Given the description of an element on the screen output the (x, y) to click on. 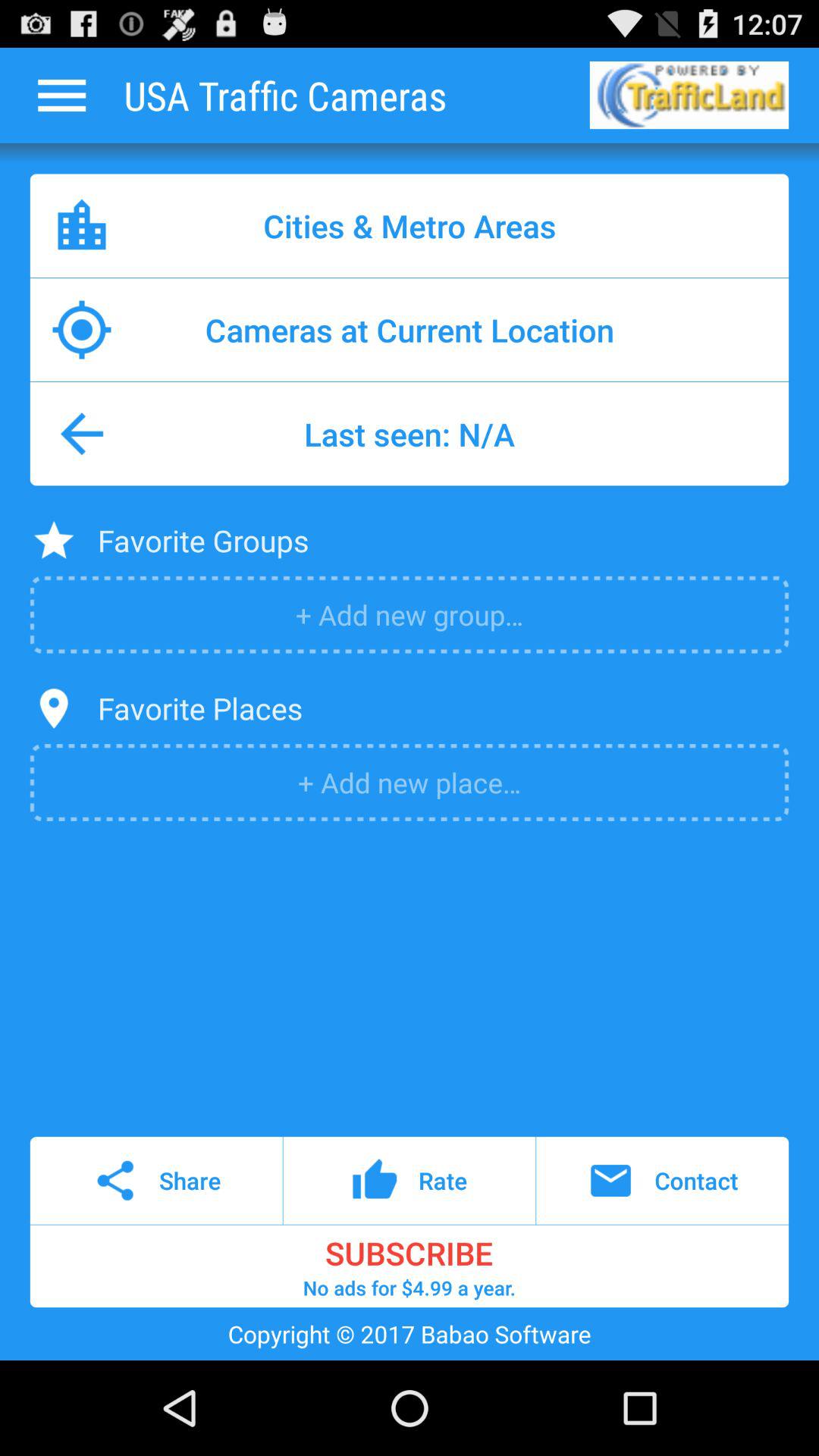
turn on icon next to the favorite groups app (53, 540)
